Given the description of an element on the screen output the (x, y) to click on. 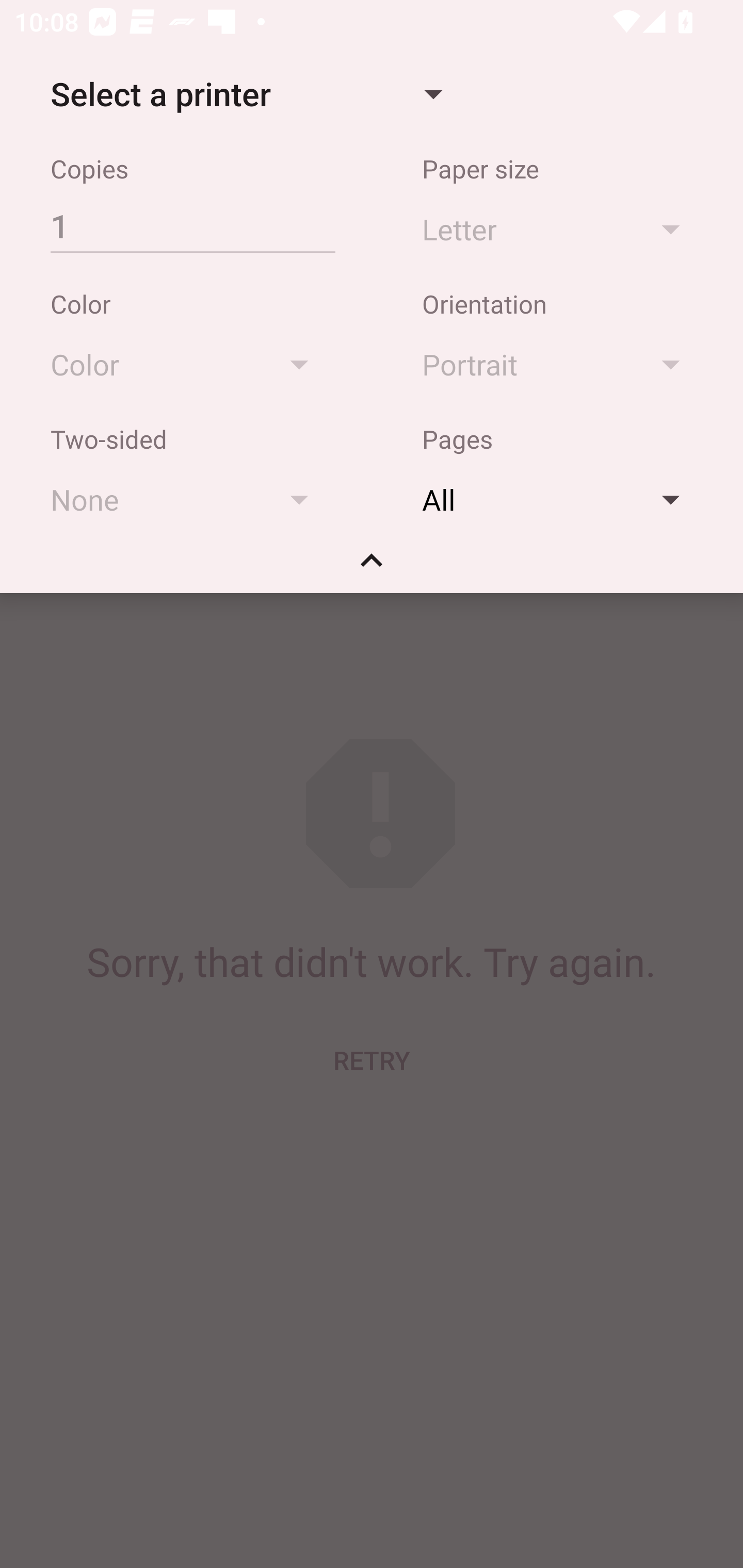
Select a printer (245, 93)
1 (192, 225)
Letter (560, 228)
Color (189, 364)
Portrait (560, 364)
None (189, 499)
All  (560, 499)
Collapse handle (371, 567)
